Given the description of an element on the screen output the (x, y) to click on. 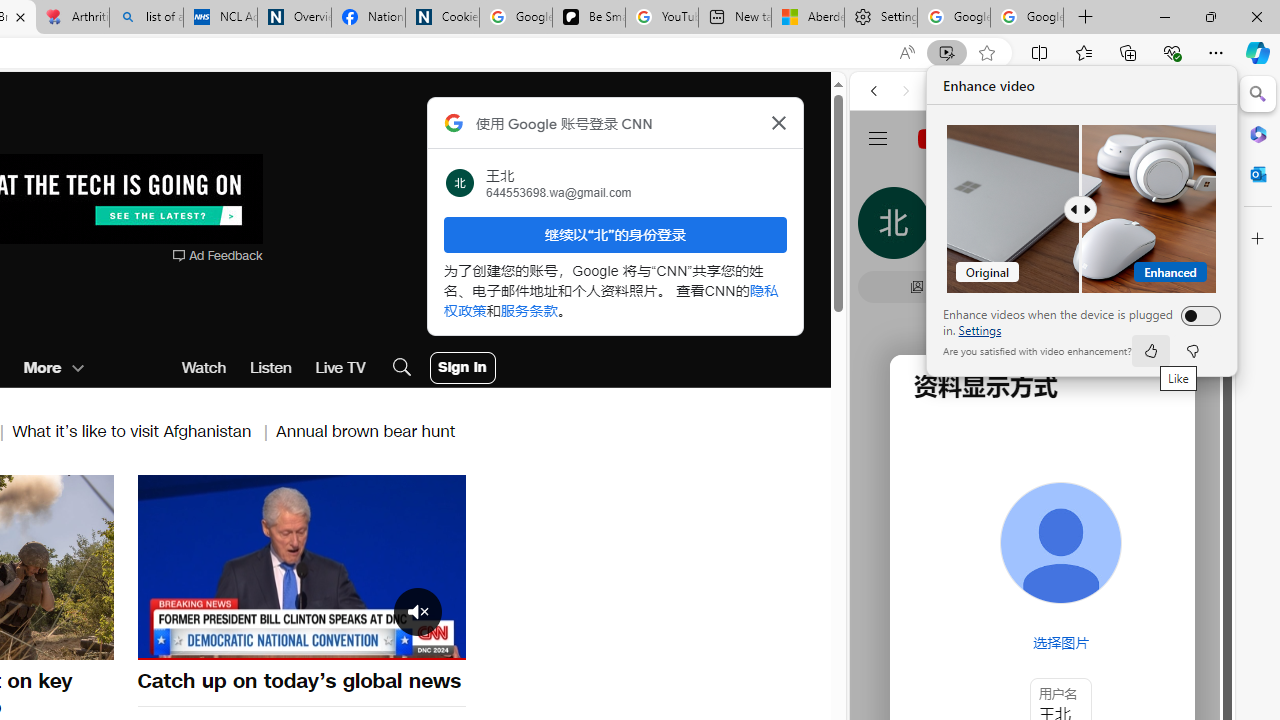
Pause (301, 564)
Listen (270, 367)
Arthritis: Ask Health Professionals (71, 17)
Unmute (164, 642)
Trailer #2 [HD] (1042, 592)
Backward 10 seconds (241, 566)
Comparision (1081, 209)
Live TV (340, 367)
Google (1042, 494)
Trailer #2 [HD] (1042, 594)
Aberdeen, Hong Kong SAR hourly forecast | Microsoft Weather (807, 17)
